Given the description of an element on the screen output the (x, y) to click on. 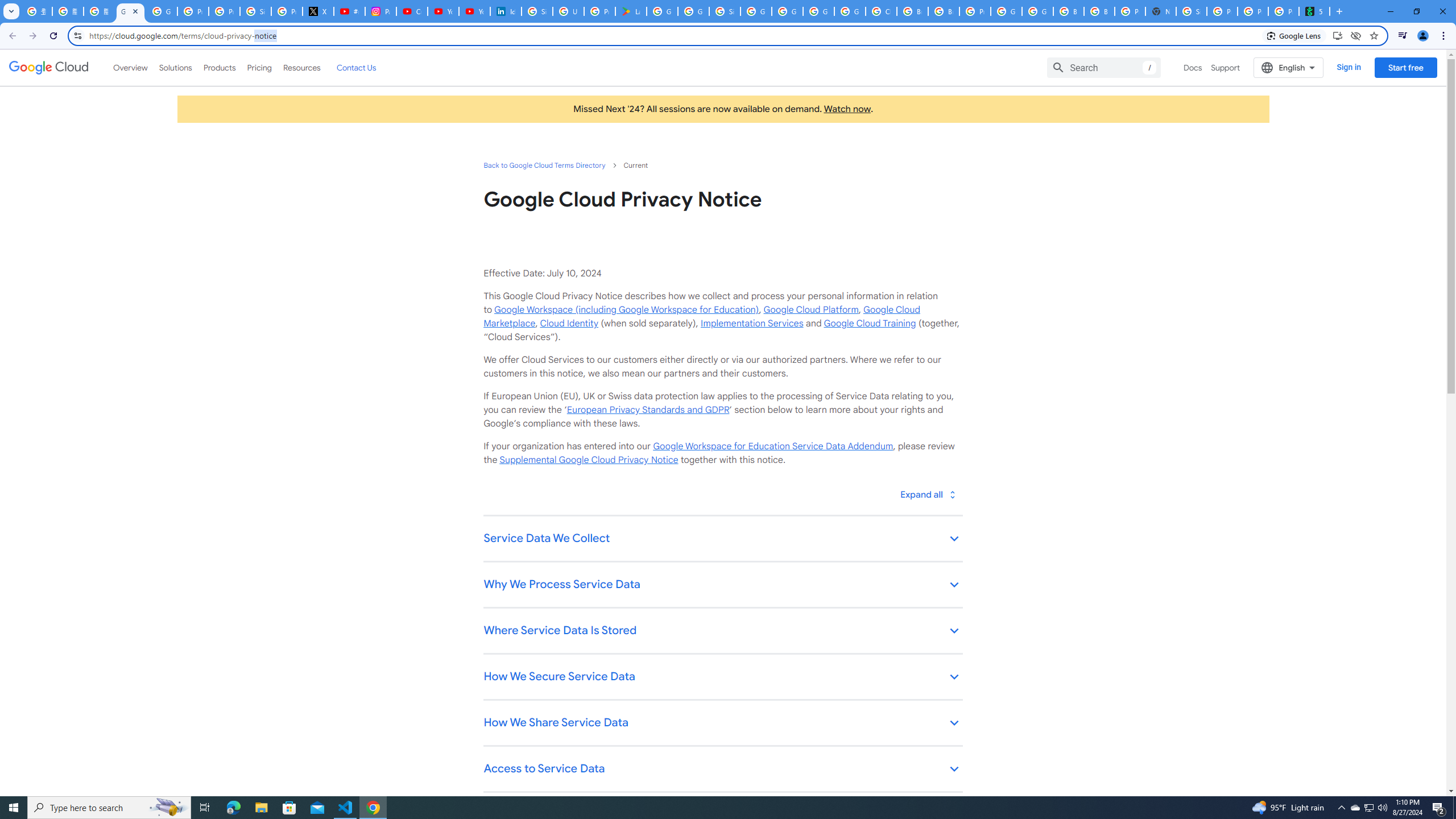
Search with Google Lens (1294, 35)
Why We Process Service Data keyboard_arrow_down (722, 585)
Google Cloud (48, 67)
Google Cloud Marketplace (701, 316)
Google Workspace (including Google Workspace for Education) (625, 309)
English (1288, 67)
Implementation Services (751, 323)
